Given the description of an element on the screen output the (x, y) to click on. 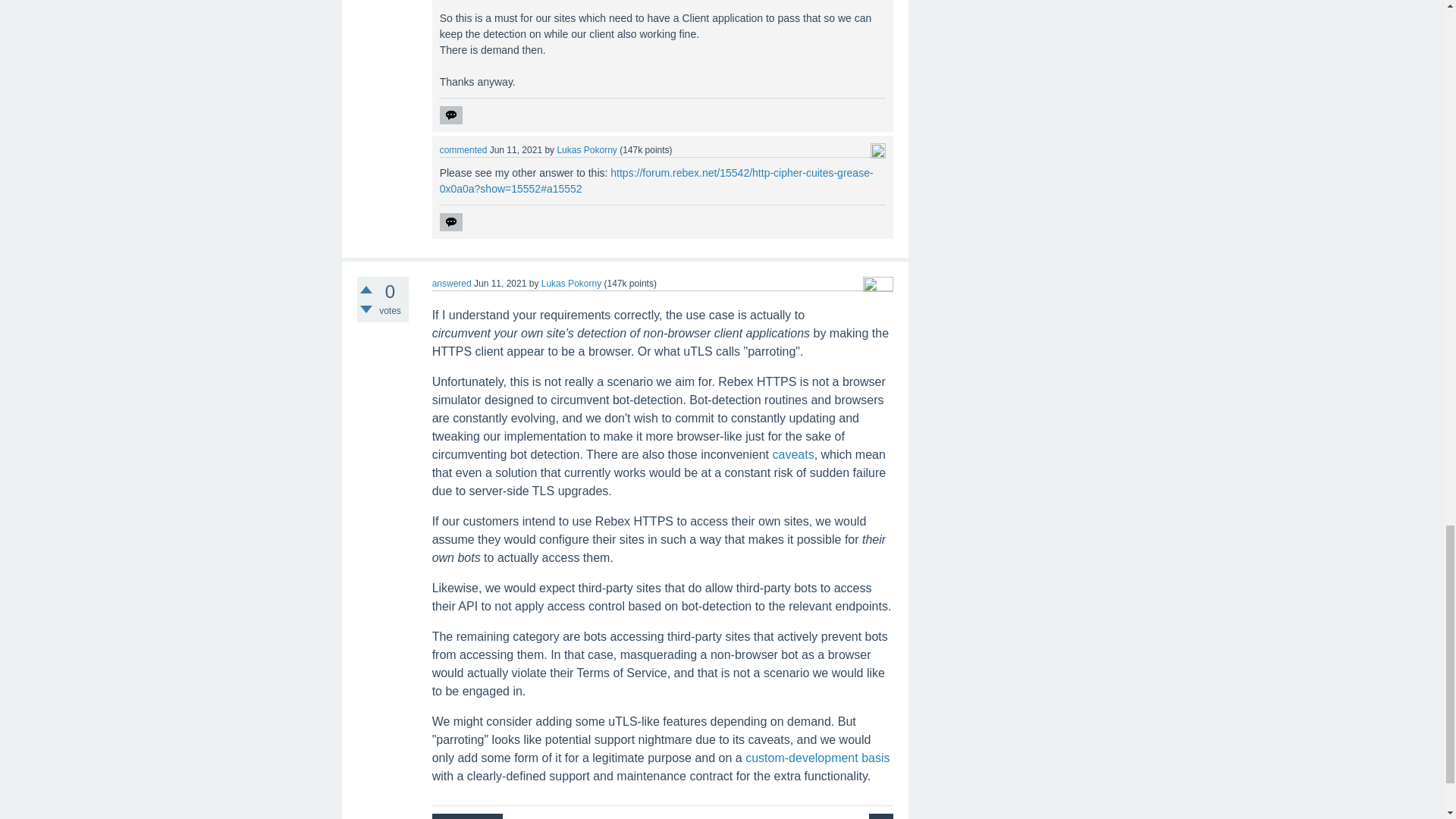
ask related question (881, 816)
reply (451, 115)
Reply to this comment (451, 221)
reply (451, 221)
comment (467, 816)
Reply to this comment (451, 115)
